Given the description of an element on the screen output the (x, y) to click on. 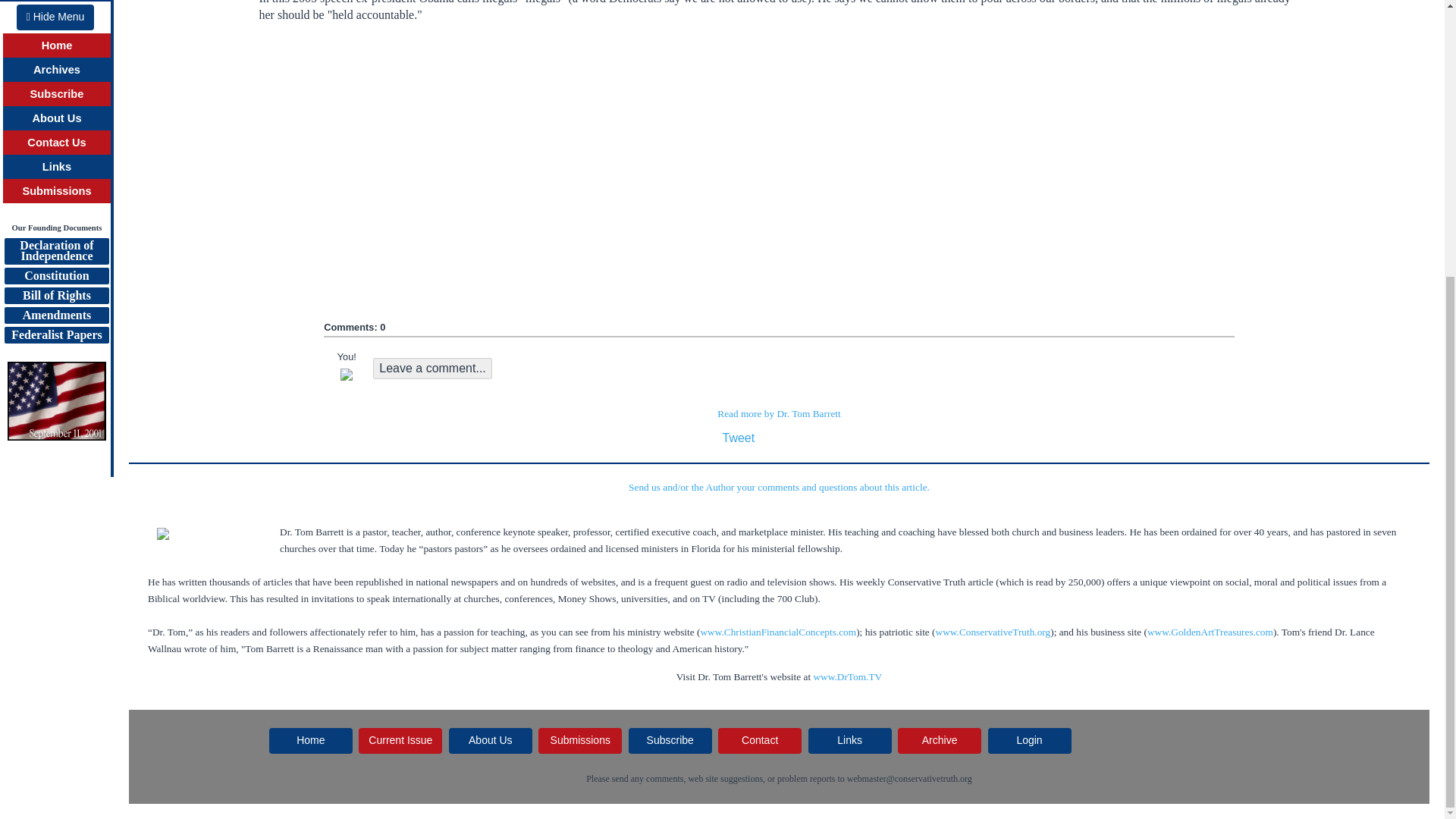
Leave a comment... (432, 368)
Amendments (56, 132)
www.DrTom.TV (847, 676)
Federalist Papers (56, 152)
Submissions (55, 8)
Home (310, 740)
Current Issue (400, 740)
www.ConservativeTruth.org (993, 632)
Subscribe (669, 740)
Archive (939, 740)
Tweet (738, 437)
www.GoldenArtTreasures.com (1209, 632)
Login (1029, 740)
Submissions (56, 68)
